Given the description of an element on the screen output the (x, y) to click on. 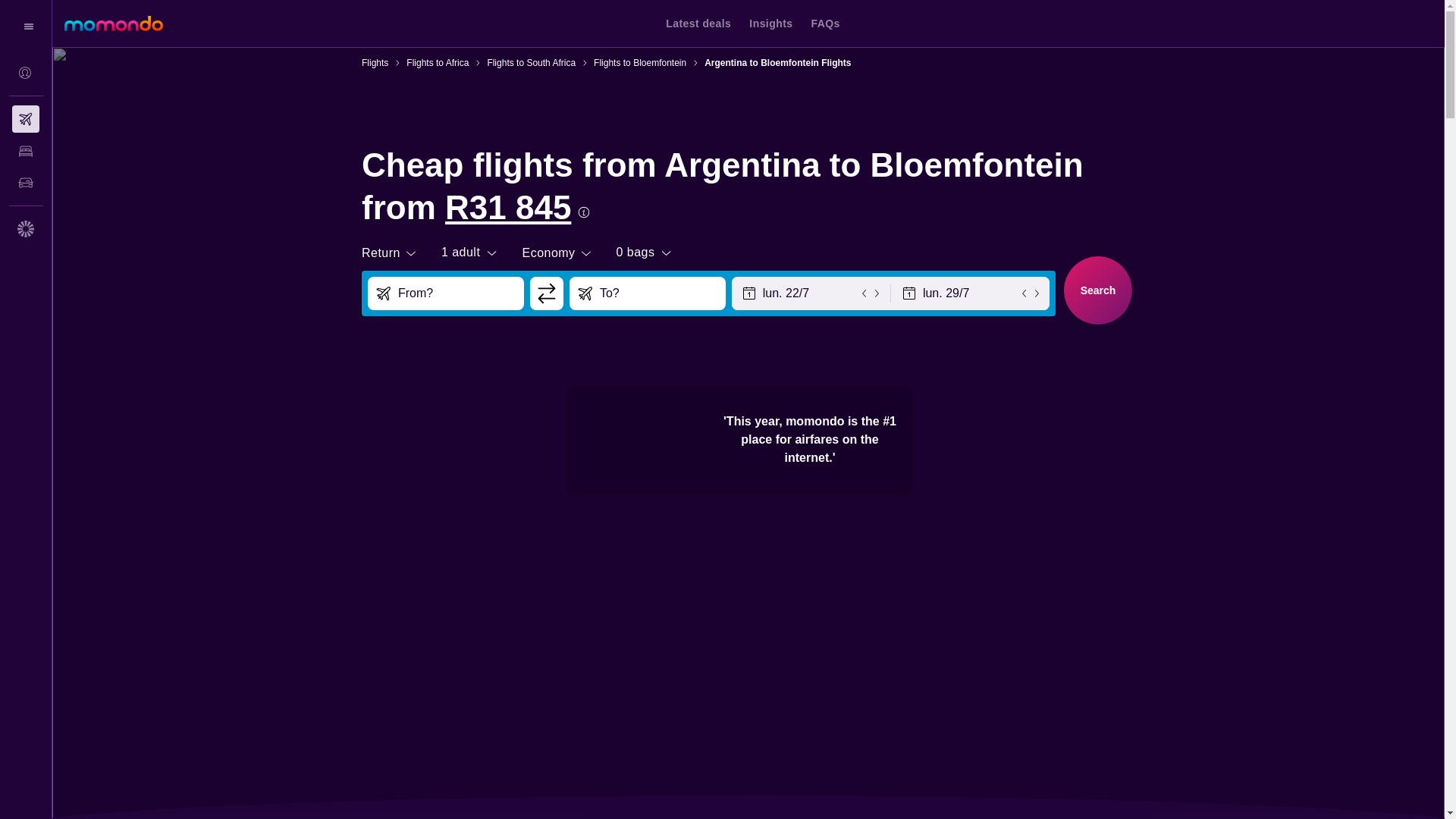
R31 845 (507, 207)
Search (1096, 288)
Flights to Africa (437, 62)
Flights (374, 62)
Flights to South Africa (530, 62)
Search (1098, 290)
Flights to Bloemfontein (639, 62)
